Given the description of an element on the screen output the (x, y) to click on. 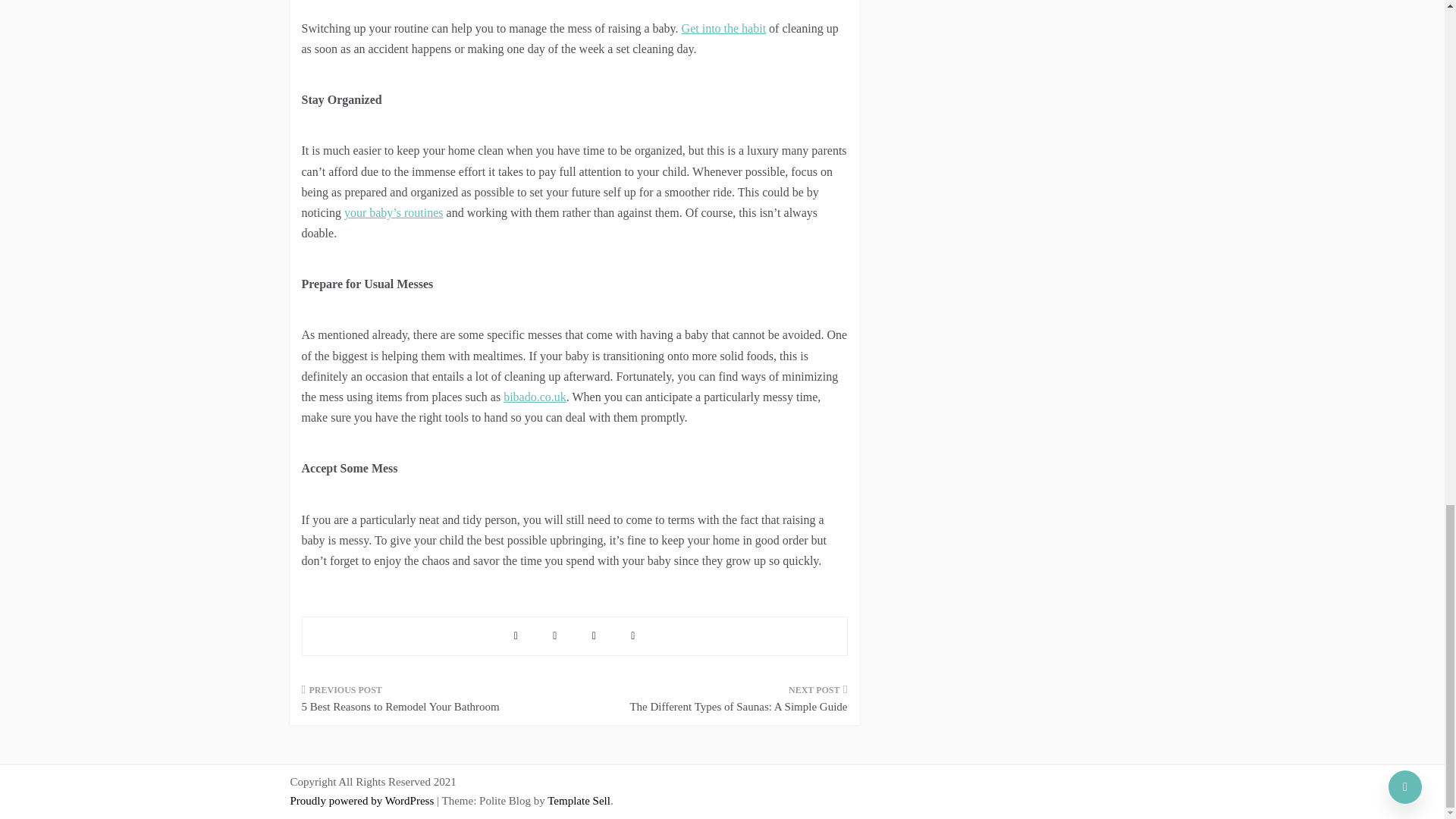
bibado.co.uk (534, 396)
5 Best Reasons to Remodel Your Bathroom (432, 703)
The Different Types of Saunas: A Simple Guide (716, 703)
Get into the habit (724, 28)
